Given the description of an element on the screen output the (x, y) to click on. 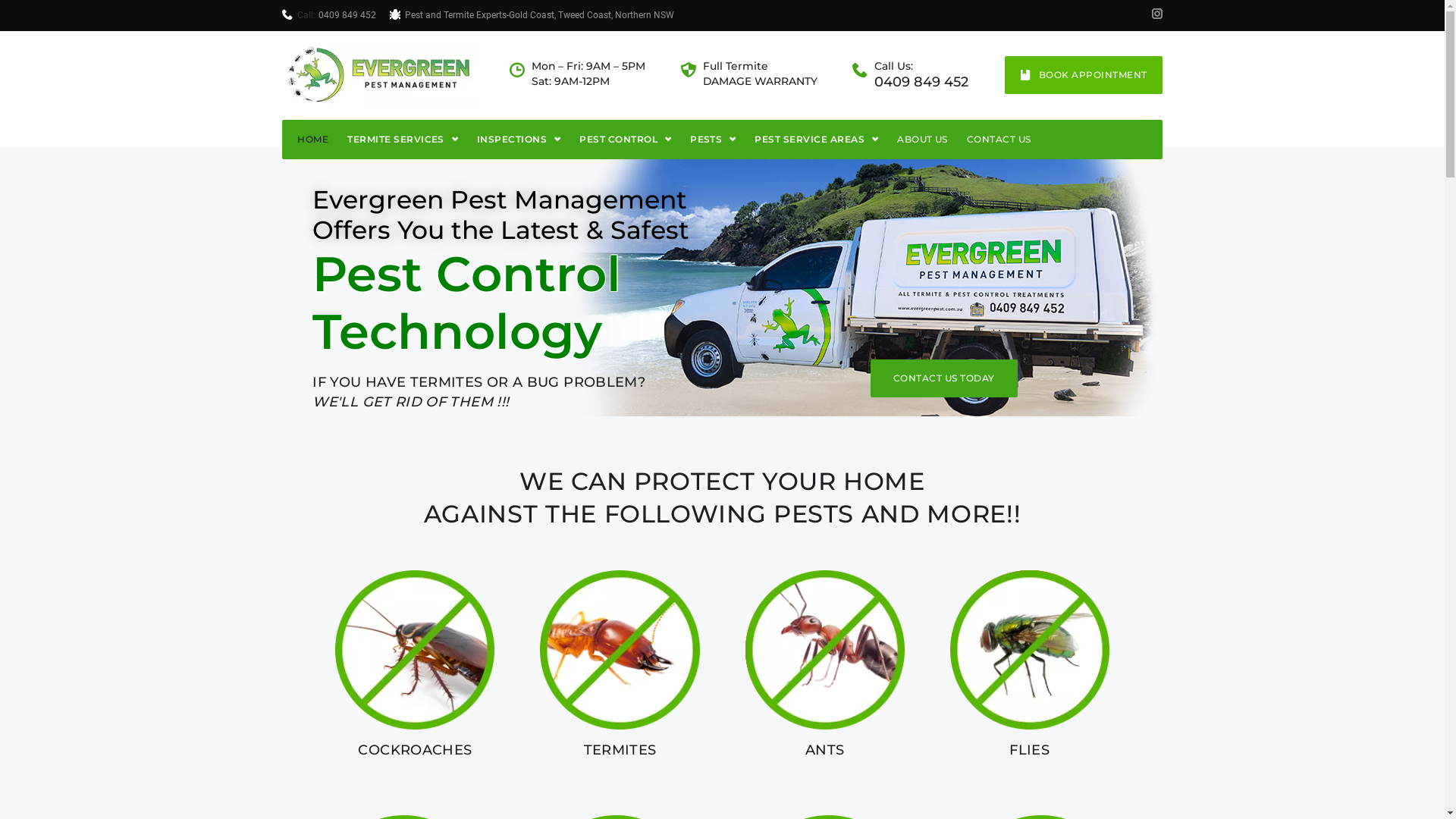
TERMITE SERVICES Element type: text (402, 139)
PESTS Element type: text (712, 139)
0409 849 452 Element type: text (921, 82)
BOOK APPOINTMENT Element type: text (1082, 75)
INSPECTIONS Element type: text (518, 139)
HOME Element type: text (312, 139)
TERMITES Element type: text (619, 749)
ABOUT US Element type: text (922, 139)
FLIES Element type: text (1029, 749)
PEST CONTROL Element type: text (625, 139)
COCKROACHES Element type: text (414, 749)
CONTACT US Element type: text (998, 139)
ANTS Element type: text (824, 749)
0409 849 452 Element type: text (347, 15)
PEST SERVICE AREAS Element type: text (816, 139)
CONTACT US TODAY Element type: text (943, 378)
